Given the description of an element on the screen output the (x, y) to click on. 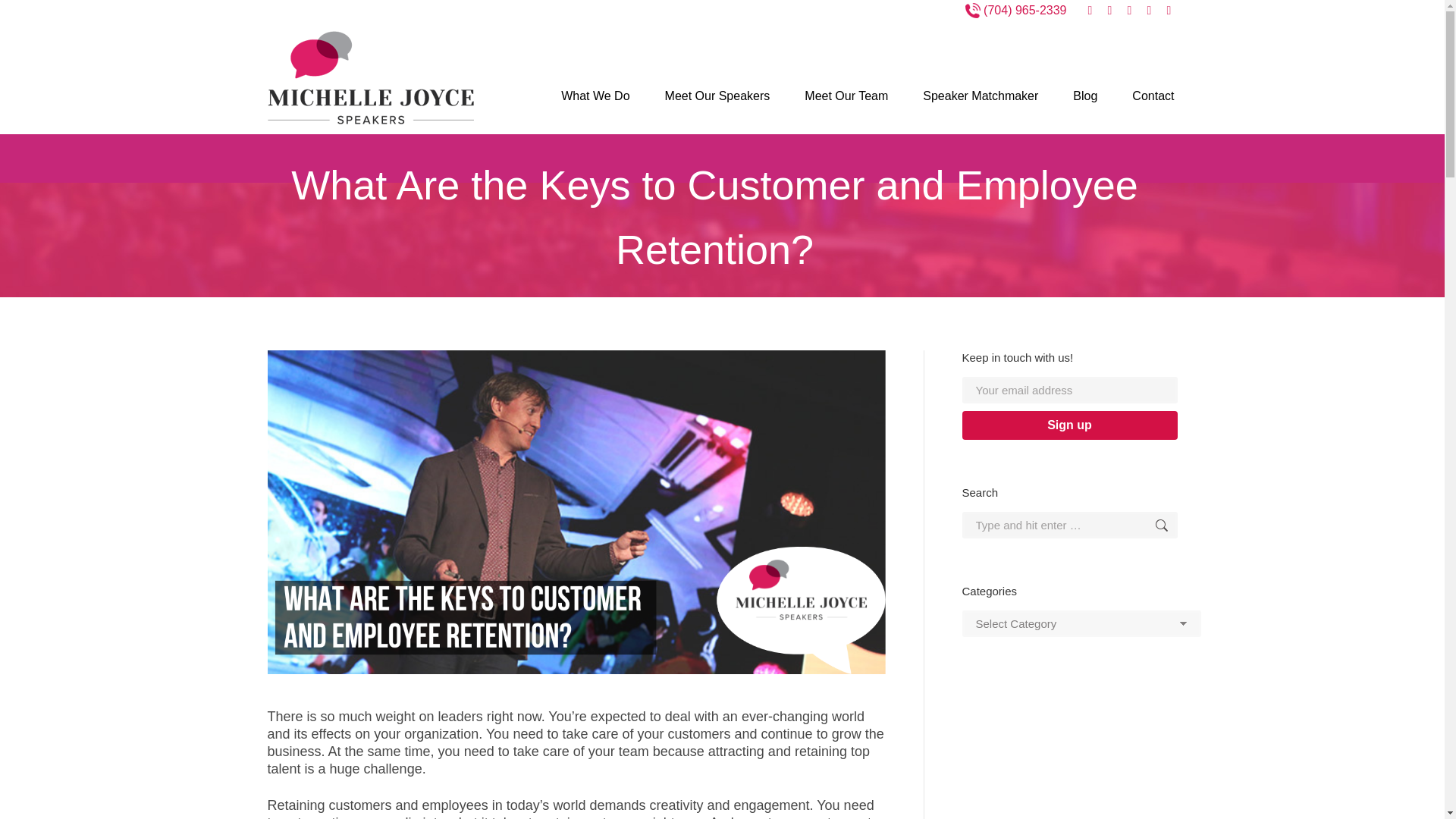
Instagram page opens in new window (1168, 10)
Facebook page opens in new window (1090, 10)
Go! (1146, 524)
Vimeo page opens in new window (1129, 10)
Linkedin page opens in new window (1110, 10)
Vimeo page opens in new window (1129, 10)
What We Do (594, 95)
YouTube page opens in new window (1149, 10)
YouTube page opens in new window (1149, 10)
Go! (1146, 524)
Meet Our Speakers (717, 95)
Facebook page opens in new window (1090, 10)
Linkedin page opens in new window (1110, 10)
Meet Our Team (846, 95)
Speaker Matchmaker (980, 95)
